Given the description of an element on the screen output the (x, y) to click on. 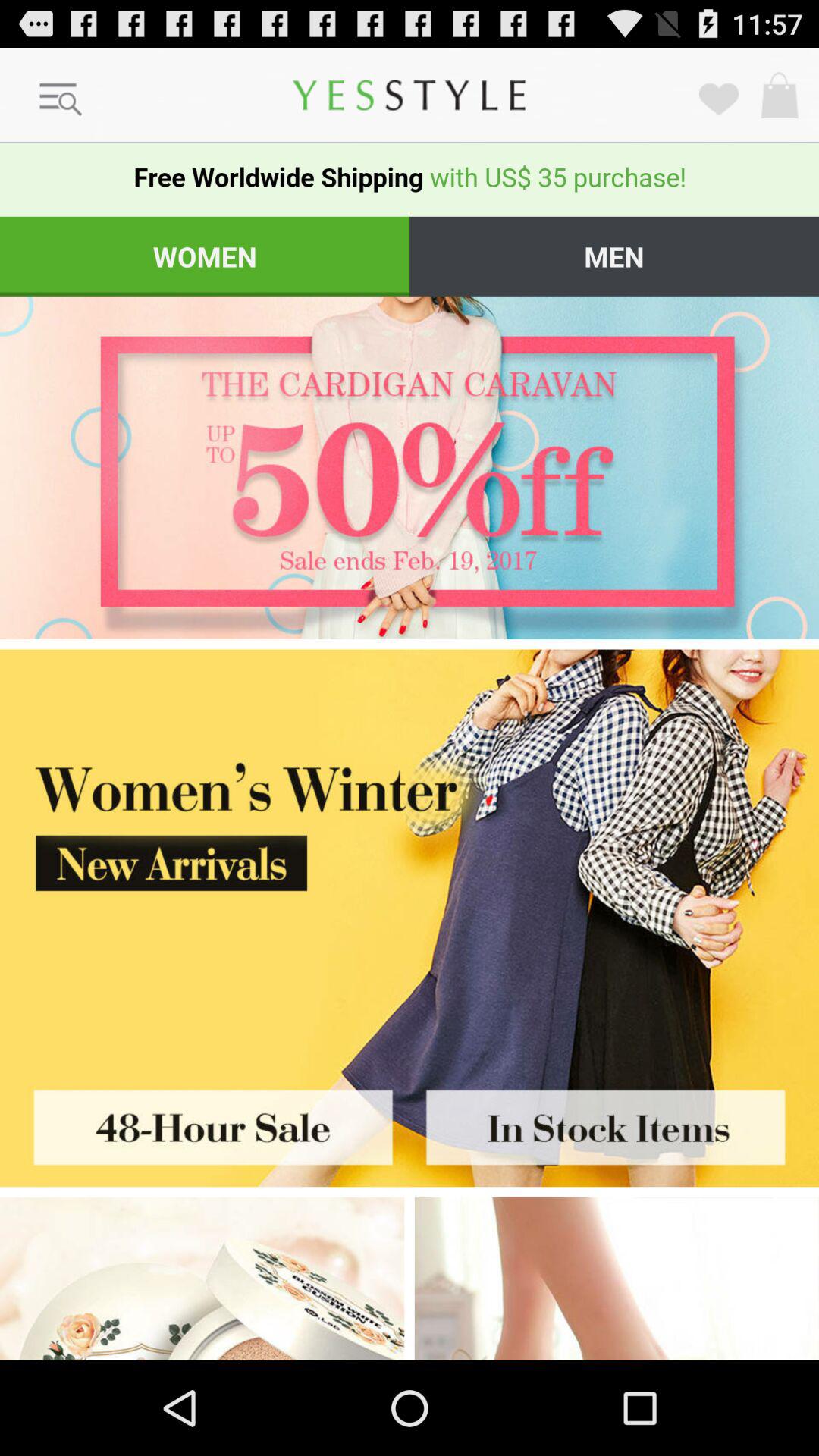
advertisement (202, 1278)
